Given the description of an element on the screen output the (x, y) to click on. 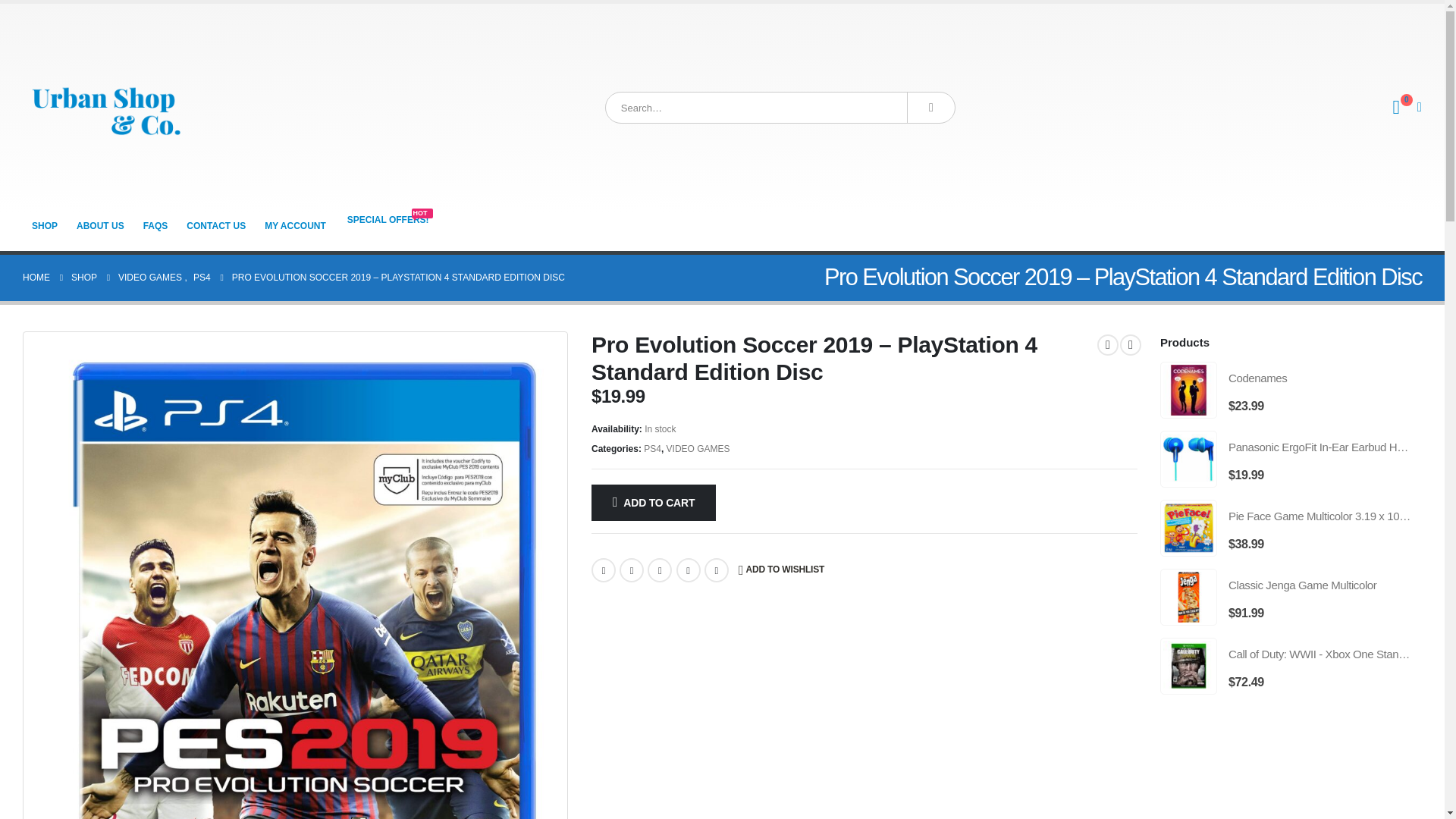
SHOP (84, 277)
PS4 (652, 448)
Facebook (603, 569)
CONTACT US (215, 225)
Search (931, 107)
SHOP (44, 225)
VIDEO GAMES (698, 448)
FAQS (155, 225)
MY ACCOUNT (295, 225)
URBAN SHOP Co - Global E-Commerce Store (106, 107)
Twitter (631, 569)
Go to Home Page (36, 277)
PS4 (202, 277)
